Given the description of an element on the screen output the (x, y) to click on. 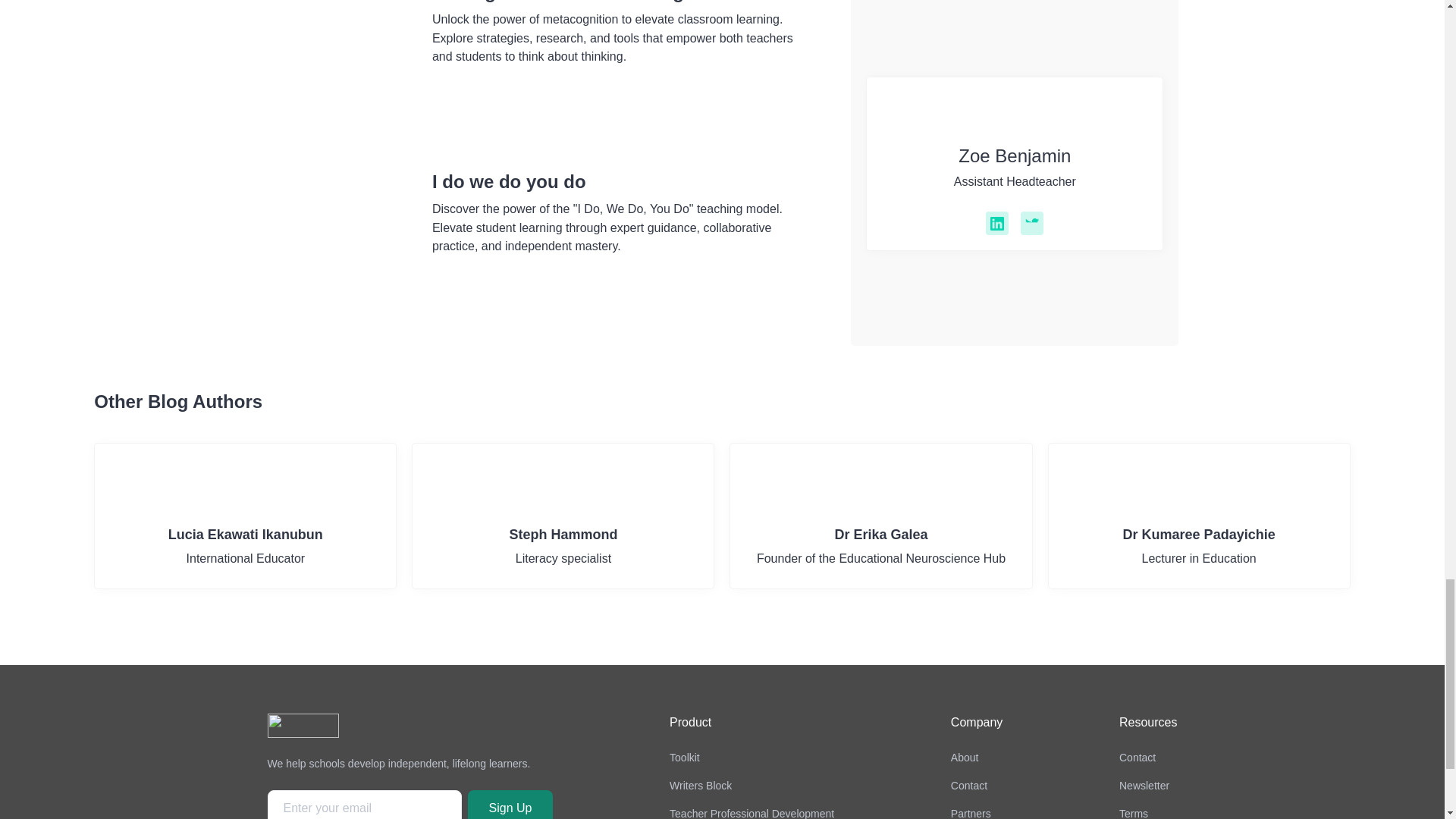
Sign Up (245, 515)
Sign Up (1199, 515)
